Given the description of an element on the screen output the (x, y) to click on. 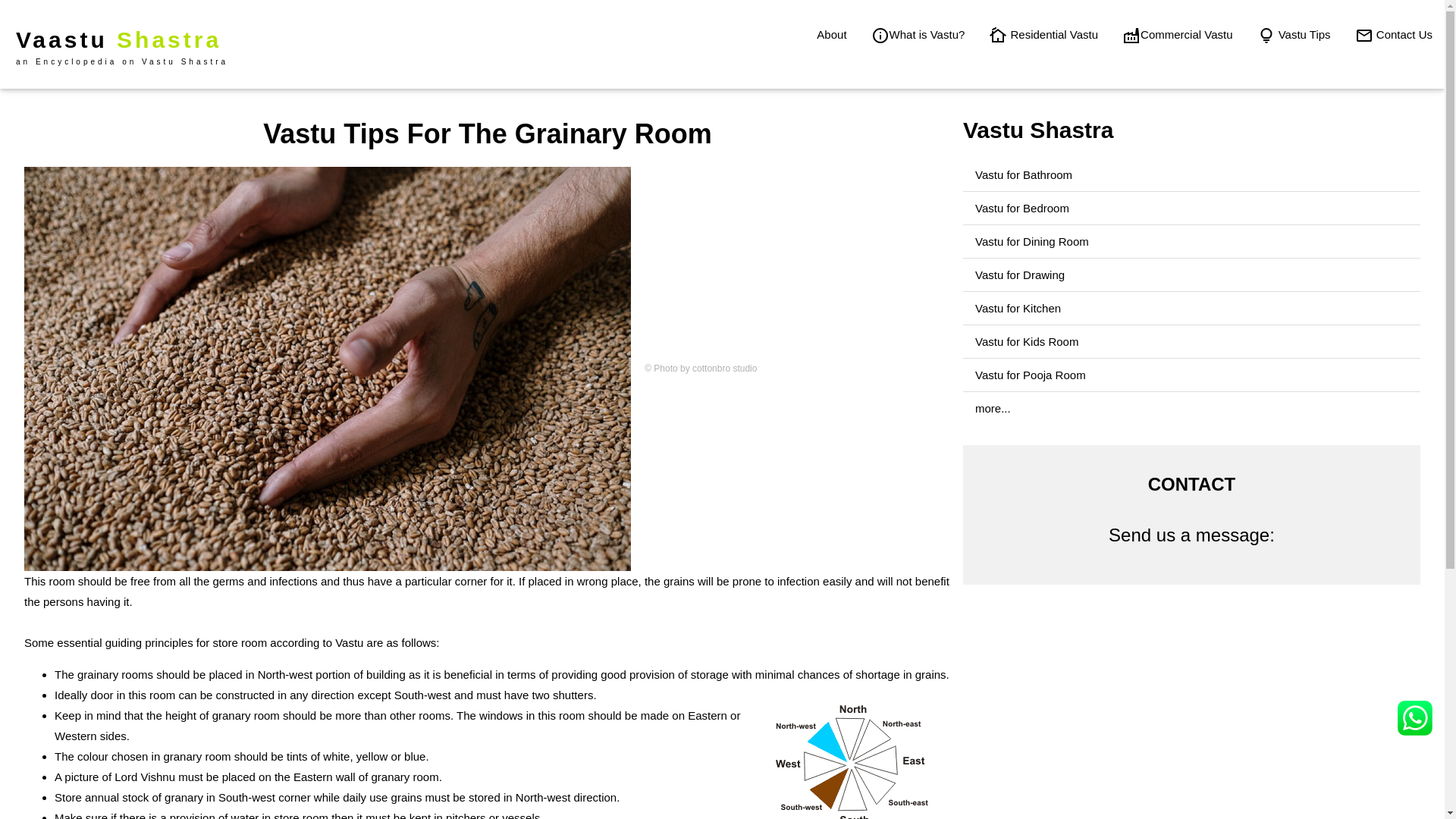
Vastu Tips (1293, 34)
more... (992, 408)
Commercial Vastu (1176, 34)
Vastu for Drawing (1019, 274)
Vastu for Kids Room (1026, 341)
Vastu for Bathroom (1023, 174)
Residential Vastu (1042, 34)
Vastu for Bedroom (1021, 207)
Vastu for Kitchen (1018, 308)
About (832, 34)
